Given the description of an element on the screen output the (x, y) to click on. 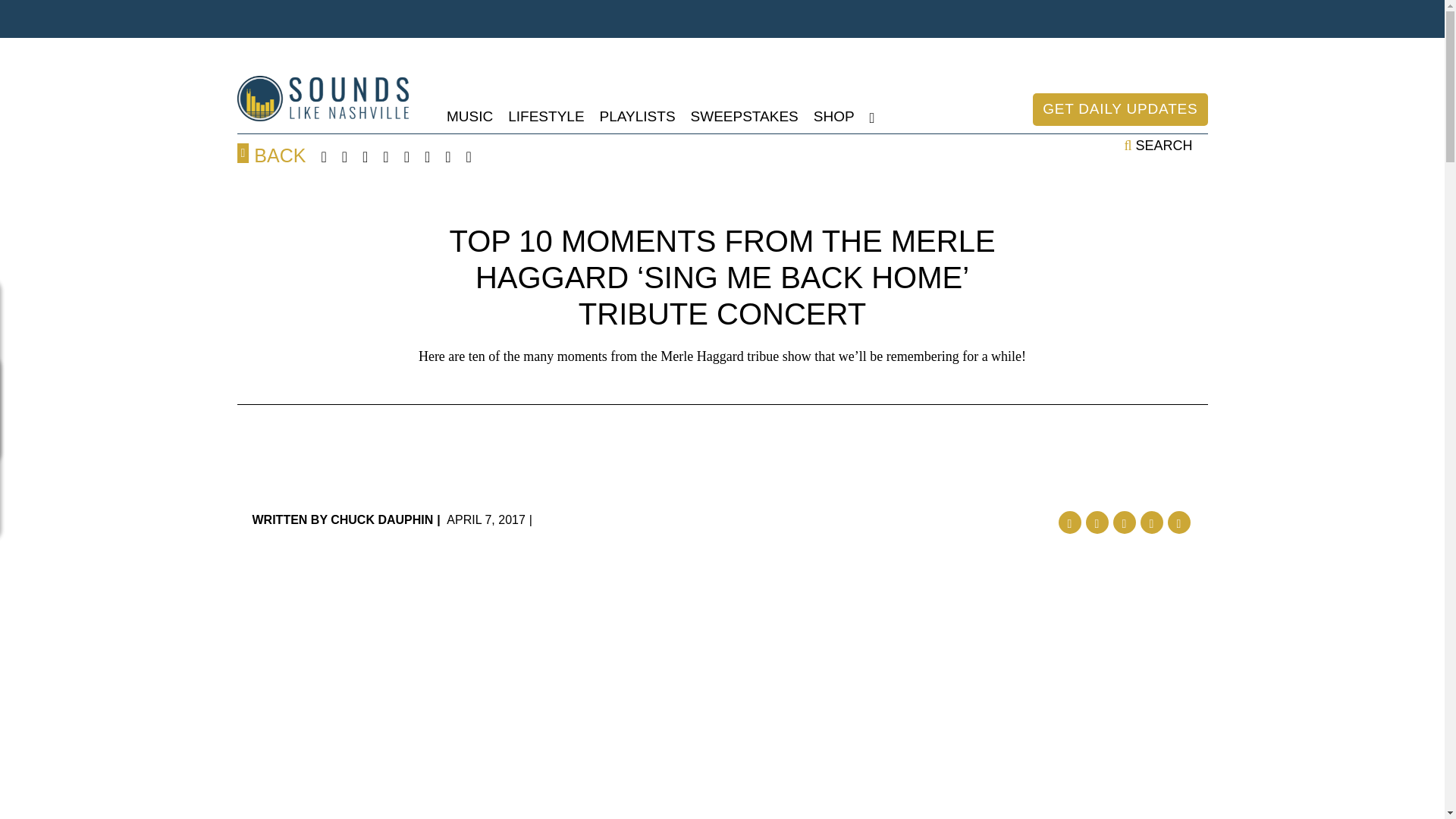
PLAYLISTS (637, 117)
SHOP (833, 117)
LIFESTYLE (545, 117)
Advertisement (721, 461)
BACK (270, 154)
GET DAILY UPDATES (1119, 109)
MUSIC (469, 117)
SWEEPSTAKES (743, 117)
Sounds Like Nashville (322, 98)
More by this author (341, 519)
